Given the description of an element on the screen output the (x, y) to click on. 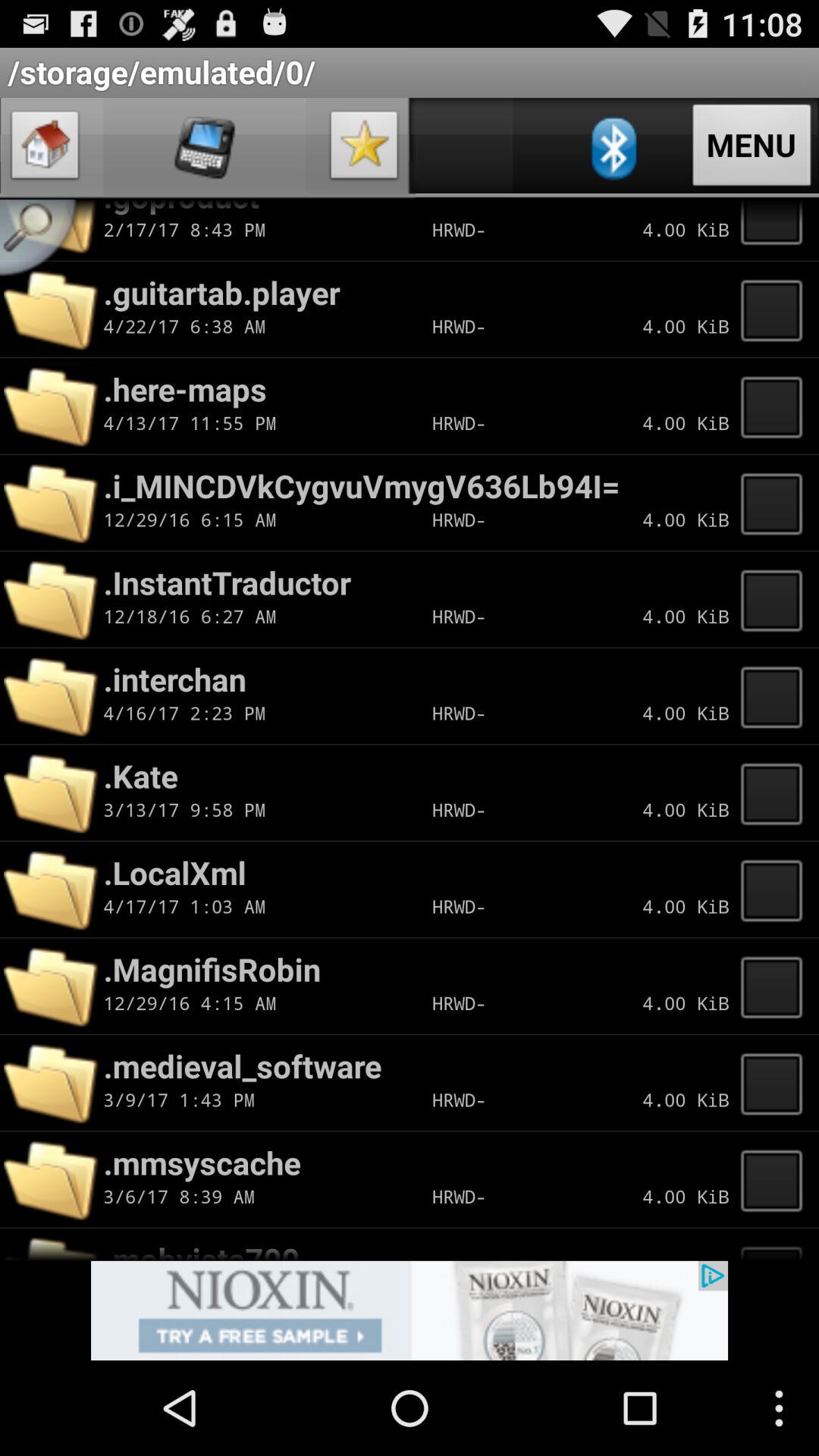
select folder (776, 229)
